Given the description of an element on the screen output the (x, y) to click on. 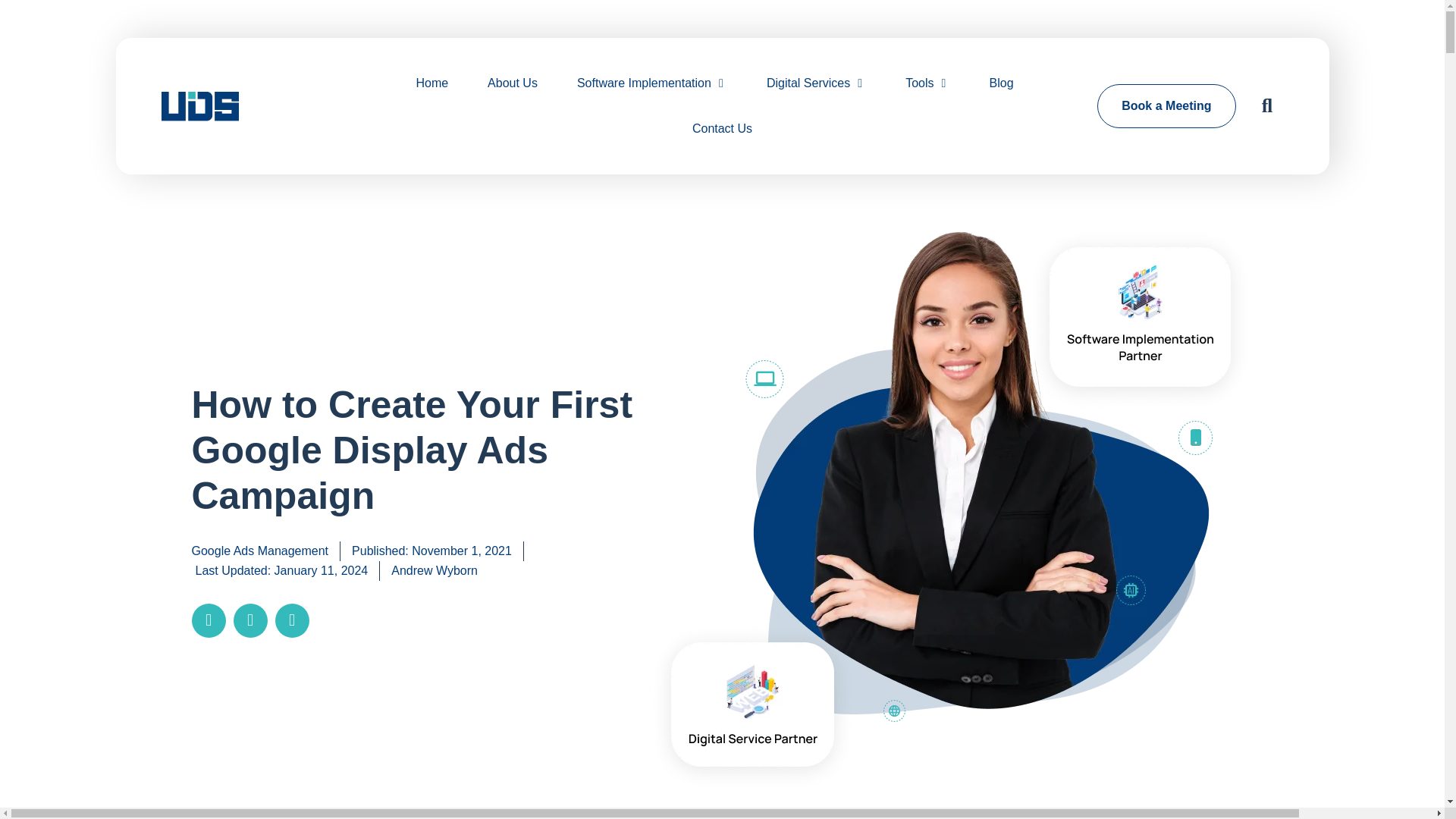
Home (431, 83)
About Us (512, 83)
Software Implementation (643, 83)
